Given the description of an element on the screen output the (x, y) to click on. 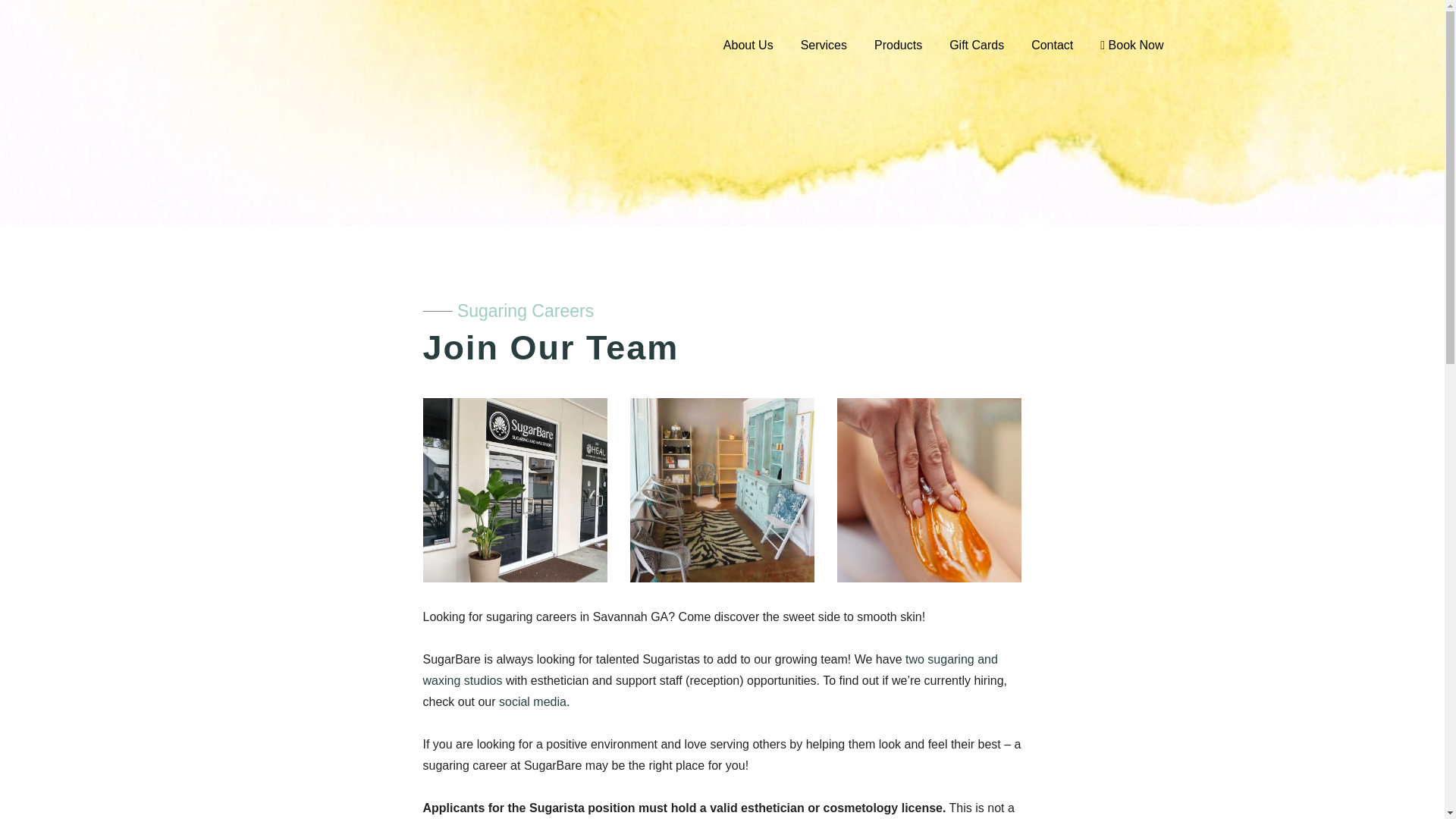
Book Now (1131, 45)
social media (532, 701)
sugaring wax hair removal (929, 490)
two sugaring and waxing studios (710, 669)
sugarbare savannah waxing sugaring studio (515, 490)
Gift Cards (976, 45)
SugarBare Waxing Sugaring Studio 800x800 (721, 490)
